Given the description of an element on the screen output the (x, y) to click on. 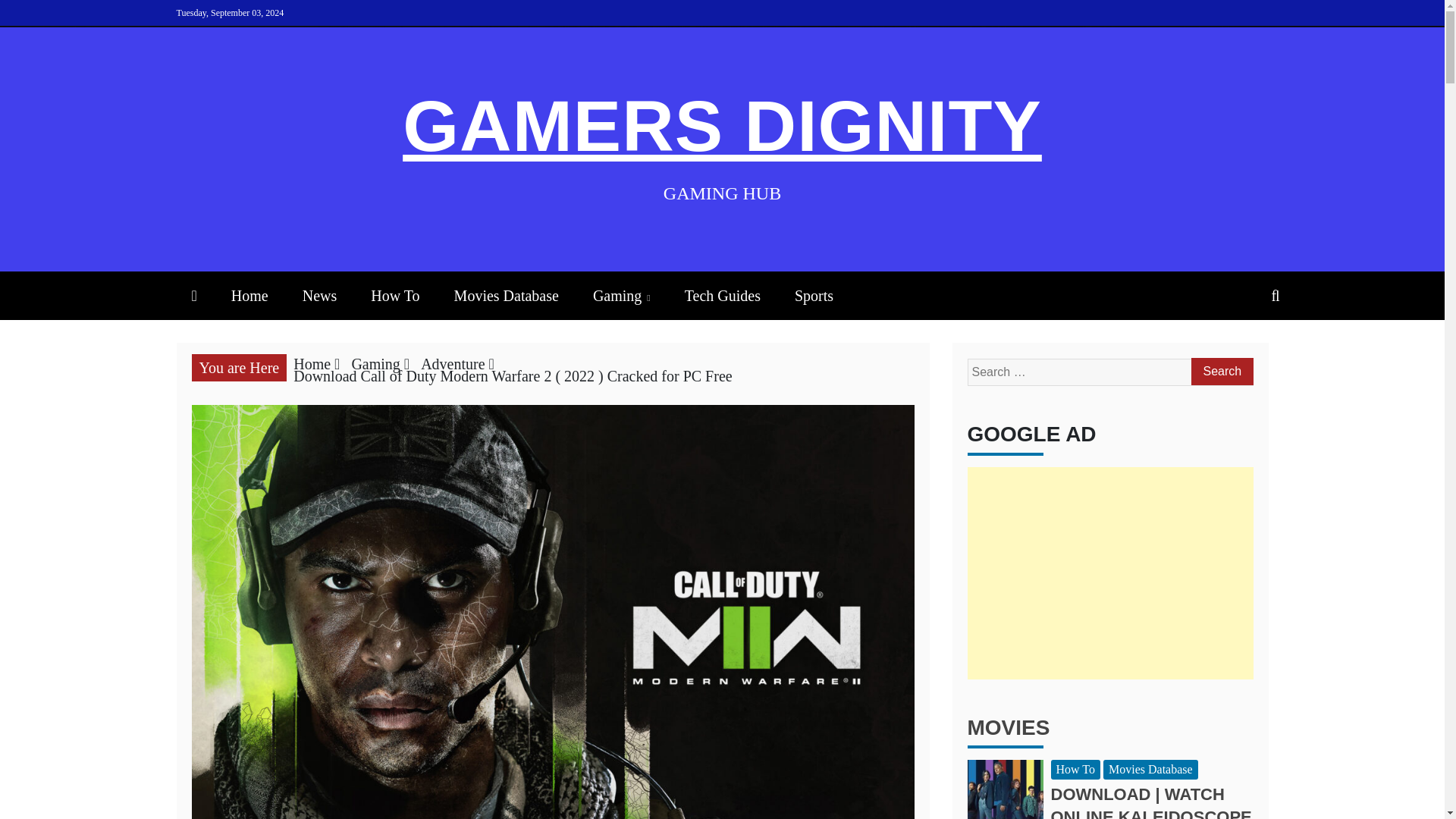
Search (1221, 370)
GAMERS DIGNITY (722, 125)
Gaming (621, 295)
Adventure (452, 363)
Tech Guides (722, 295)
Movies Database (506, 295)
Search (1221, 370)
Home (312, 363)
Gaming (374, 363)
Sports (813, 295)
